Given the description of an element on the screen output the (x, y) to click on. 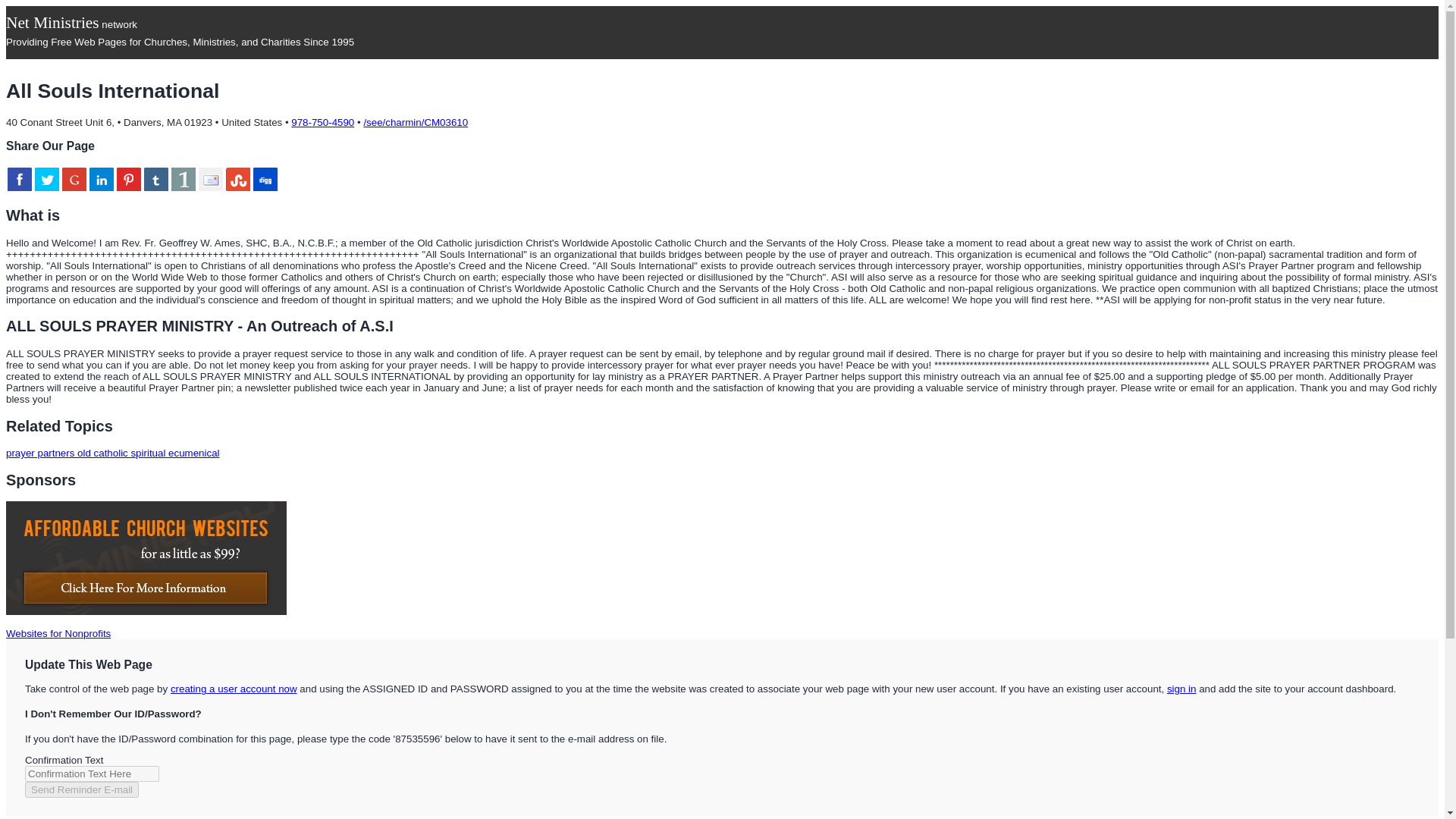
Share this page on digg (265, 178)
creating a user account now (233, 688)
Share this page on twitter (46, 178)
Send Reminder E-mail (81, 789)
Share this page on tumblr (156, 178)
Share this page on in1 (183, 178)
Share this page on googleplus (73, 178)
Share this page on pinterest (128, 178)
Websites for Nonprofits (57, 633)
978-750-4590 (322, 122)
prayer partners old catholic spiritual ecumenical (112, 452)
Net Ministries (52, 22)
Send Reminder E-mail (81, 789)
